Given the description of an element on the screen output the (x, y) to click on. 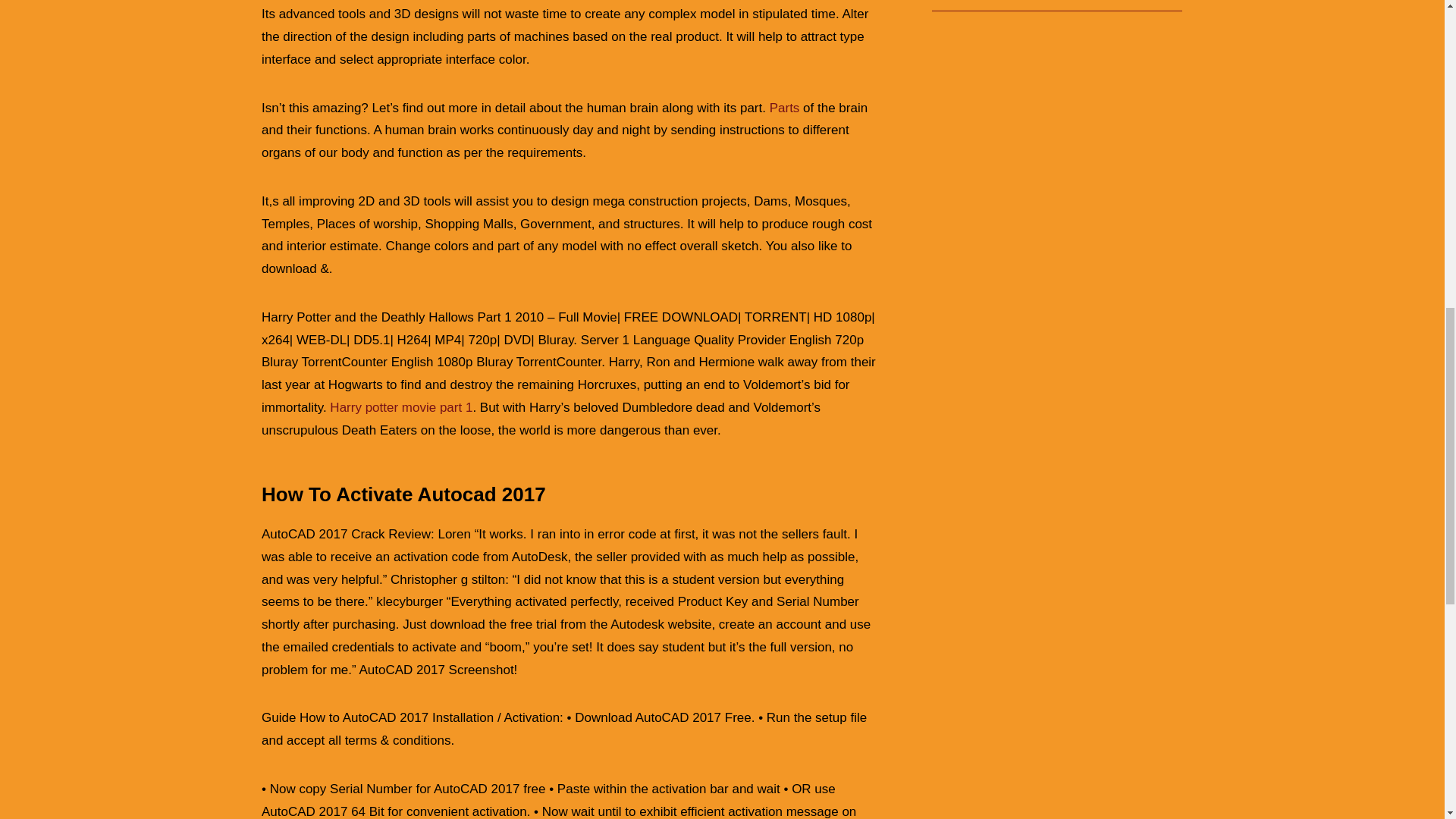
Harry potter movie part 1 (400, 407)
Harry potter movie part 1 (400, 407)
Parts (784, 107)
